Given the description of an element on the screen output the (x, y) to click on. 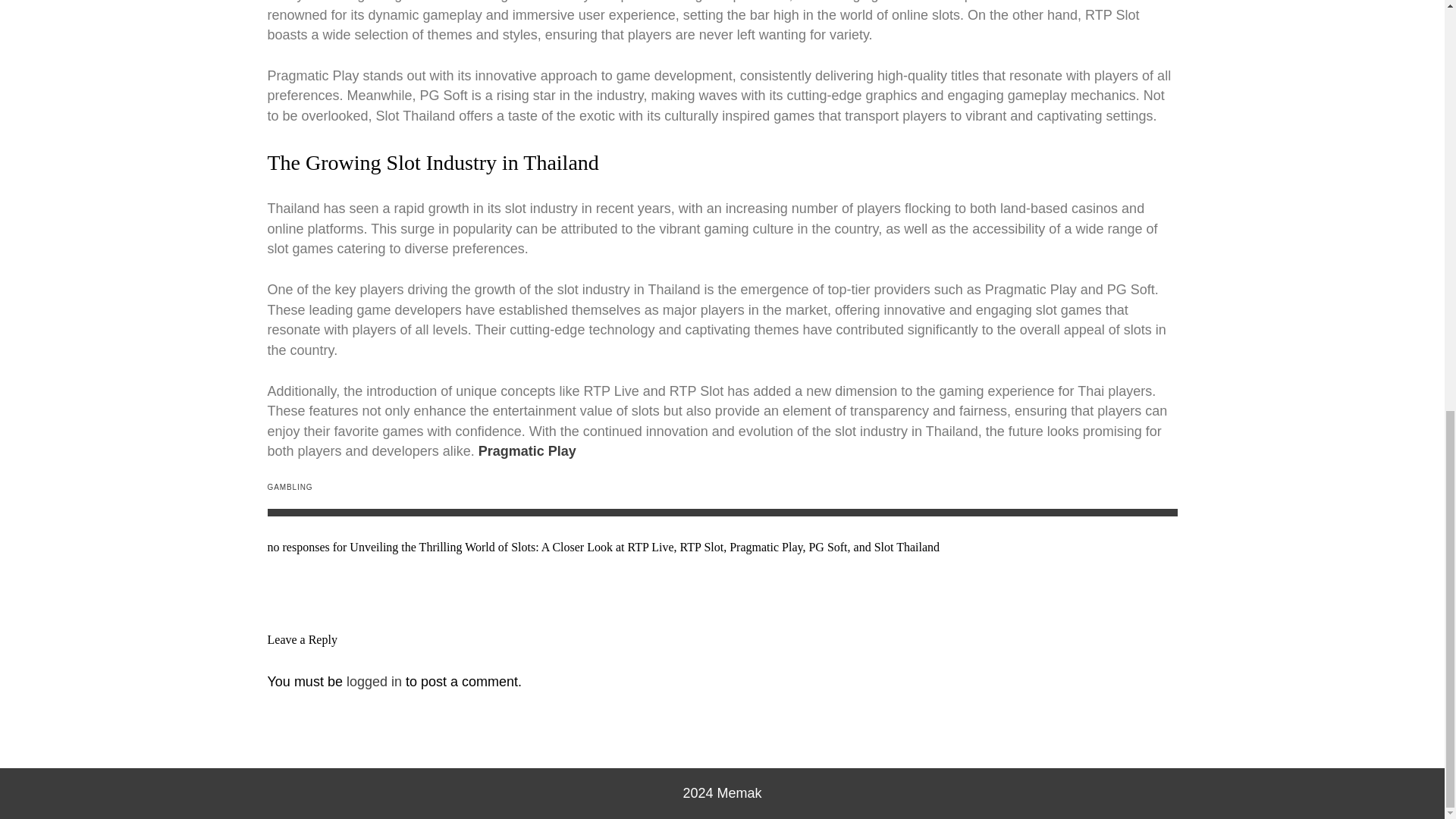
Pragmatic Play (527, 450)
logged in (373, 681)
GAMBLING (289, 487)
